Given the description of an element on the screen output the (x, y) to click on. 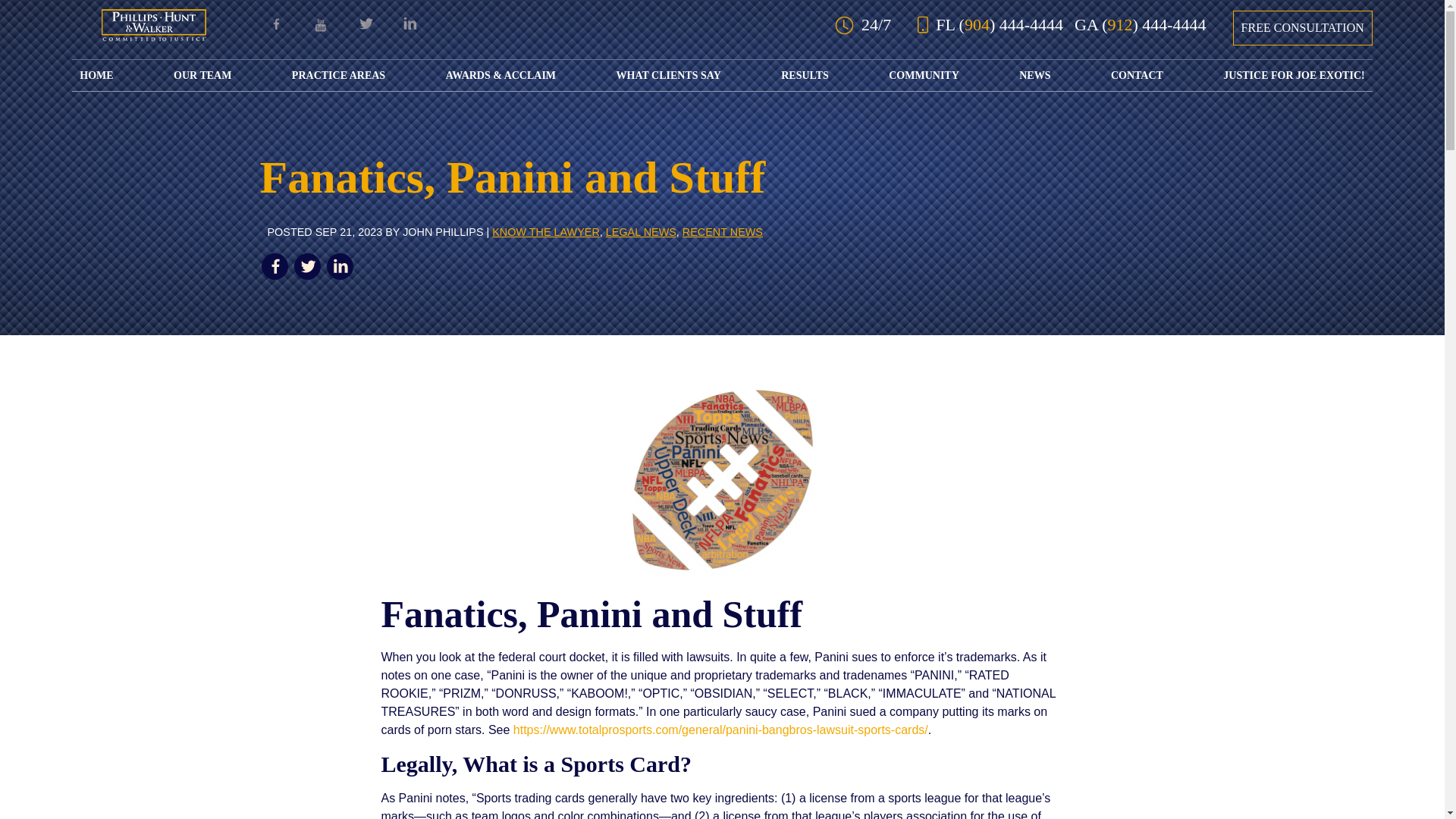
Share on Twitter (307, 266)
OUR TEAM (202, 75)
Share on Facebook (273, 266)
HOME (96, 75)
FREE CONSULTATION (1303, 27)
PRACTICE AREAS (338, 75)
Share on LinkedIn (339, 266)
